Given the description of an element on the screen output the (x, y) to click on. 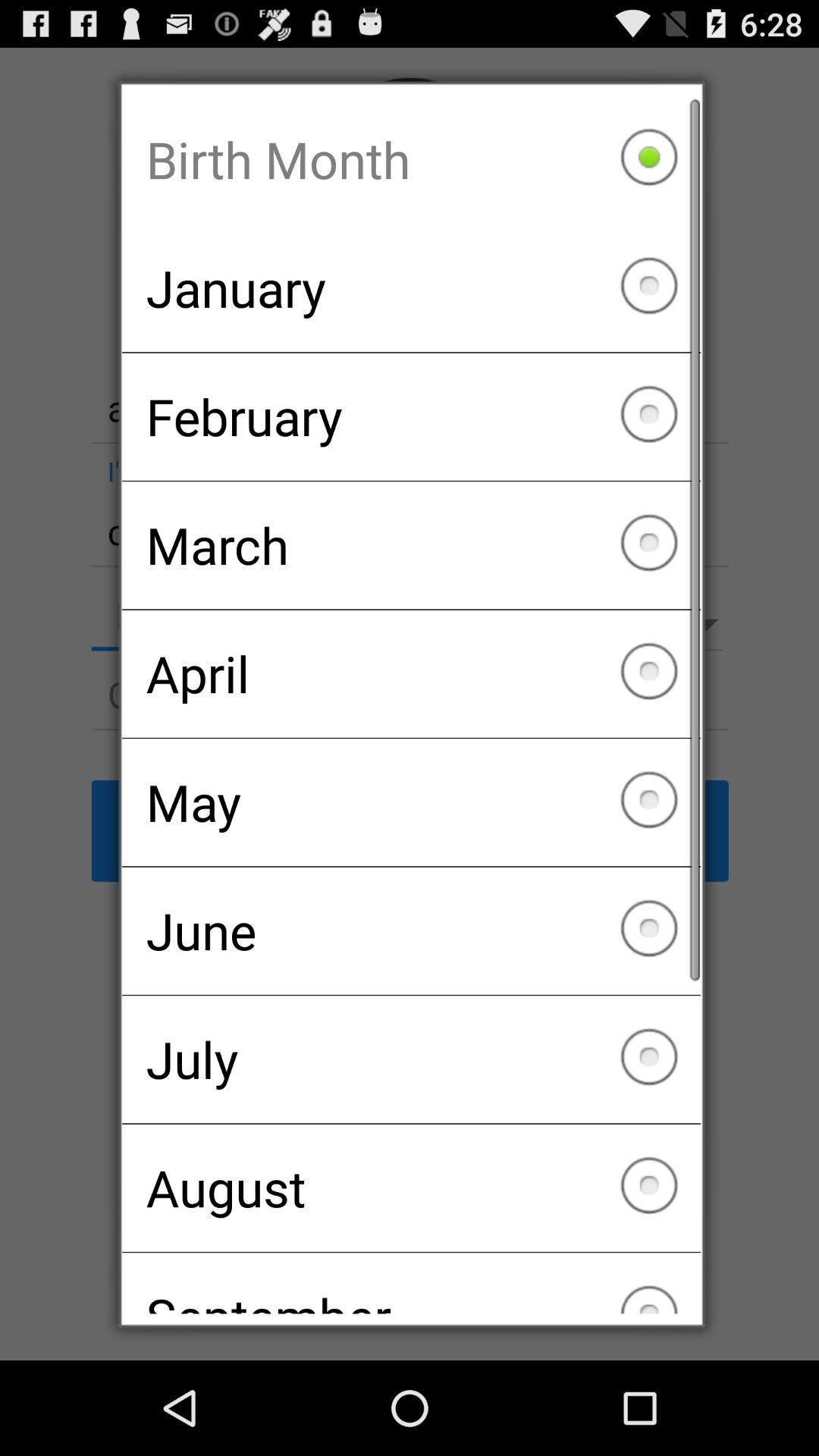
press the checkbox below may item (411, 930)
